Given the description of an element on the screen output the (x, y) to click on. 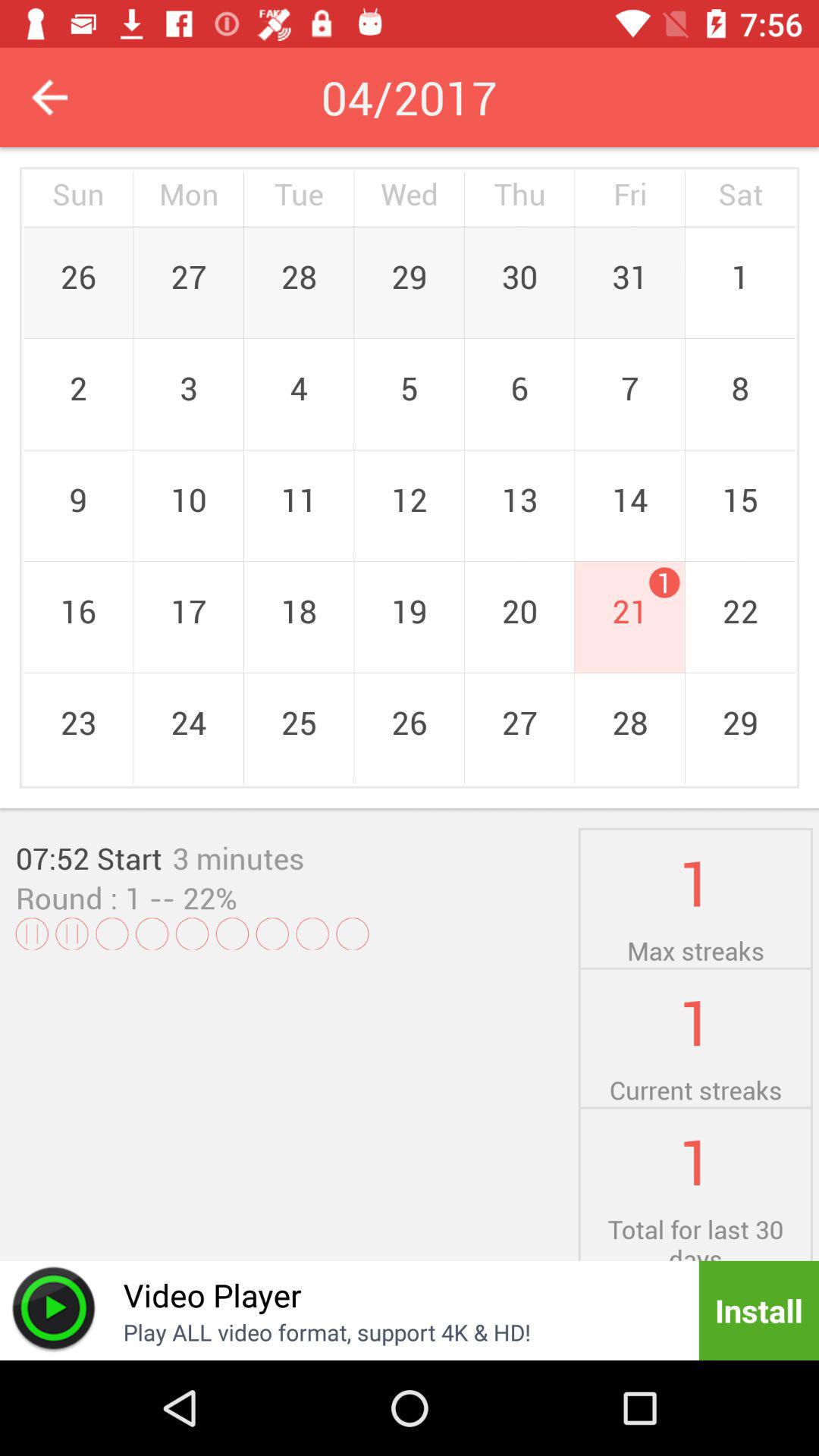
click the 3 minutes icon (238, 858)
